Given the description of an element on the screen output the (x, y) to click on. 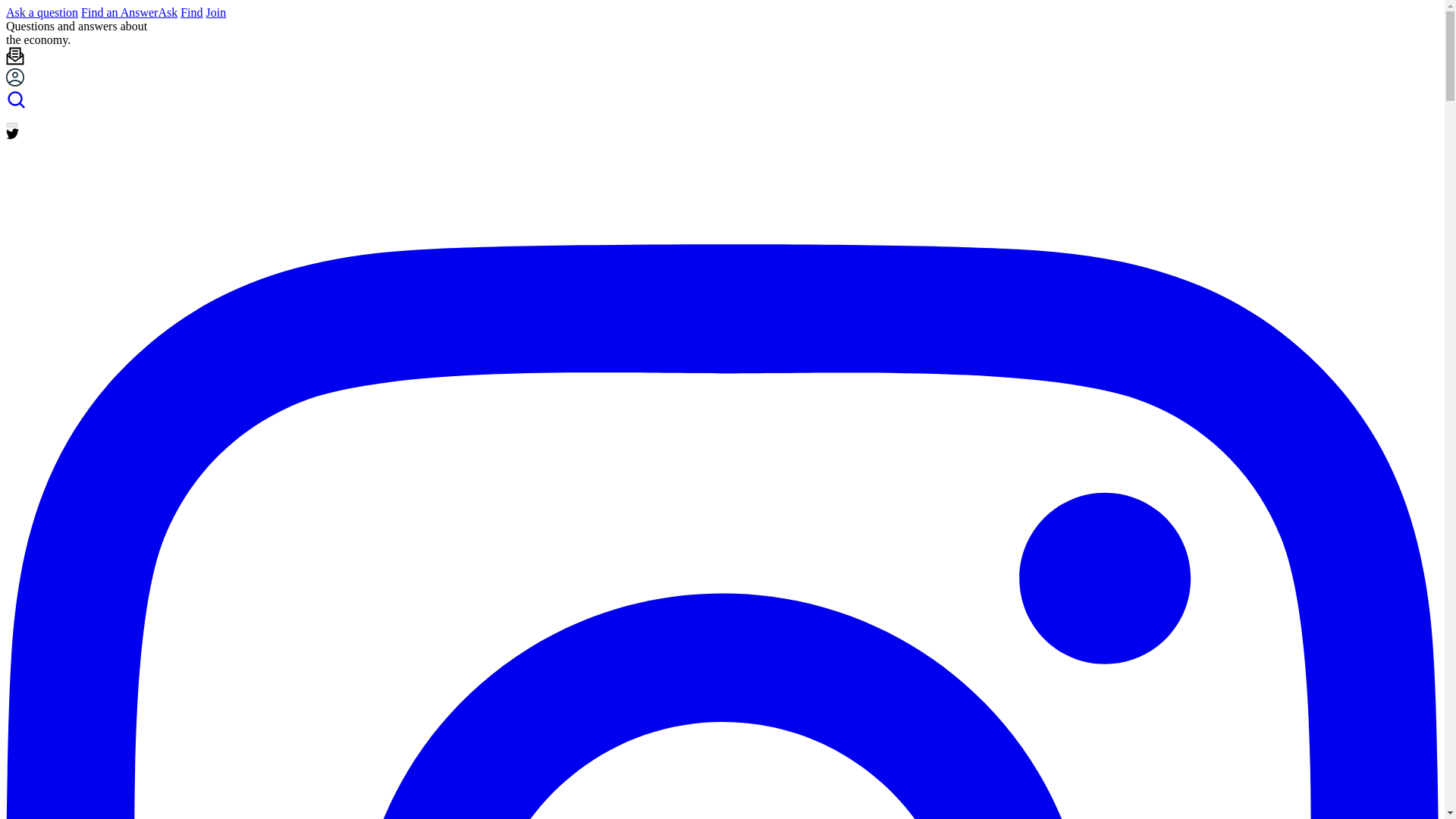
Find (191, 11)
Find an Answer (119, 11)
Join (216, 11)
Ask a question (41, 11)
Ask (167, 11)
